Given the description of an element on the screen output the (x, y) to click on. 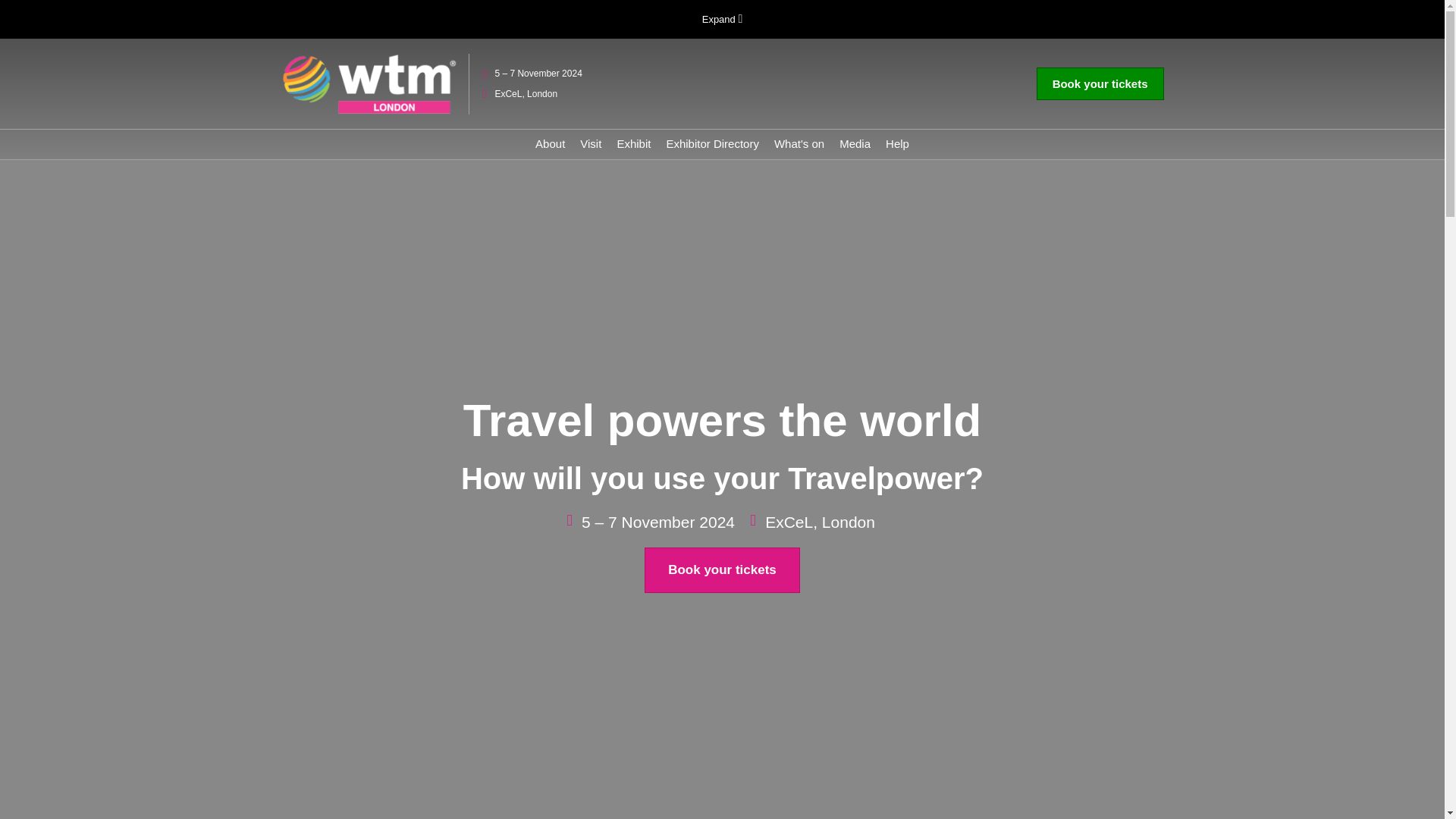
Expand (721, 19)
About (549, 143)
Media (855, 143)
Visit (590, 143)
Exhibit (632, 143)
Exhibitor Directory (711, 143)
What's on (799, 143)
Book your tickets (1099, 83)
